Given the description of an element on the screen output the (x, y) to click on. 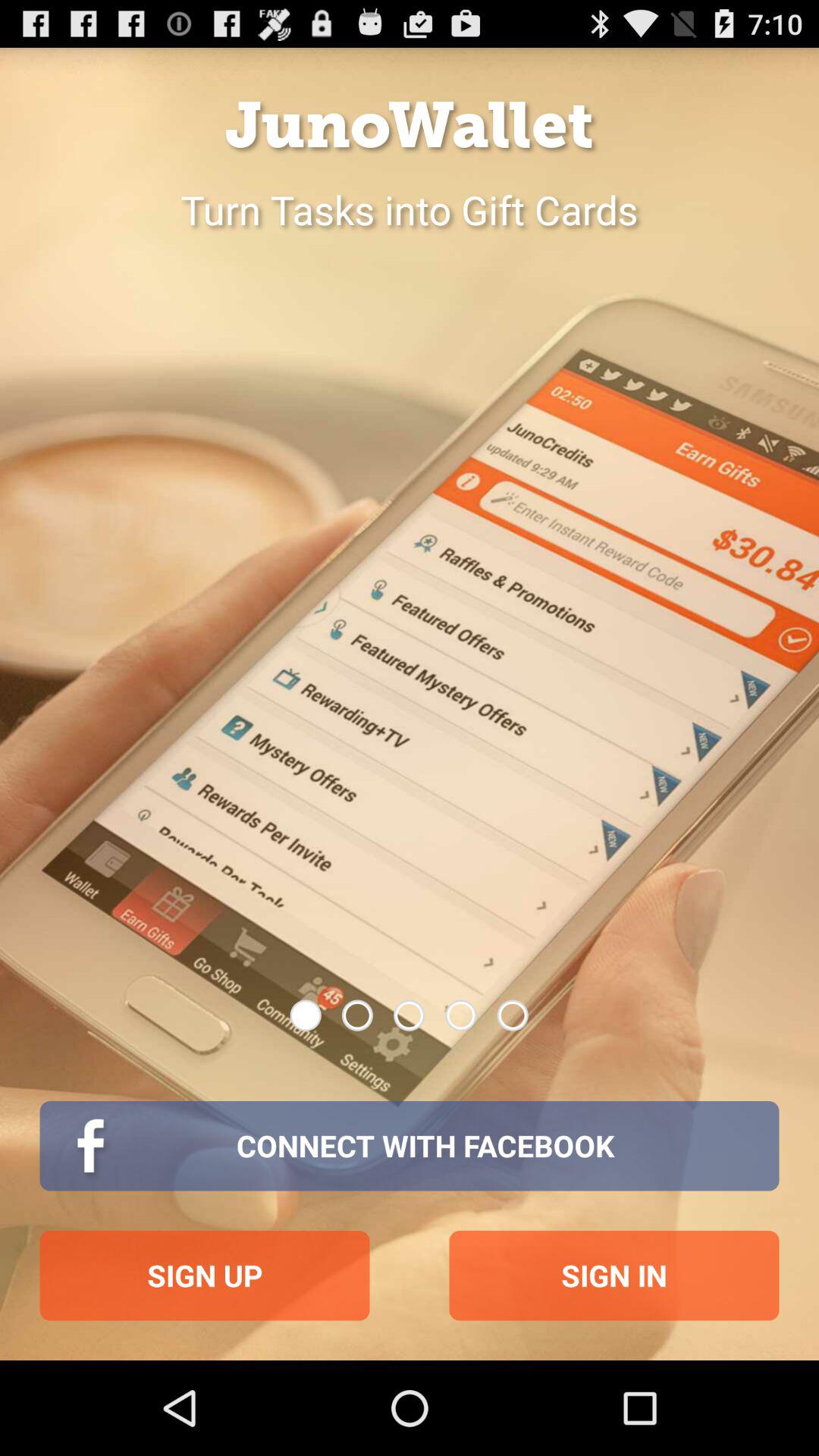
launch the button below the connect with facebook item (614, 1275)
